Given the description of an element on the screen output the (x, y) to click on. 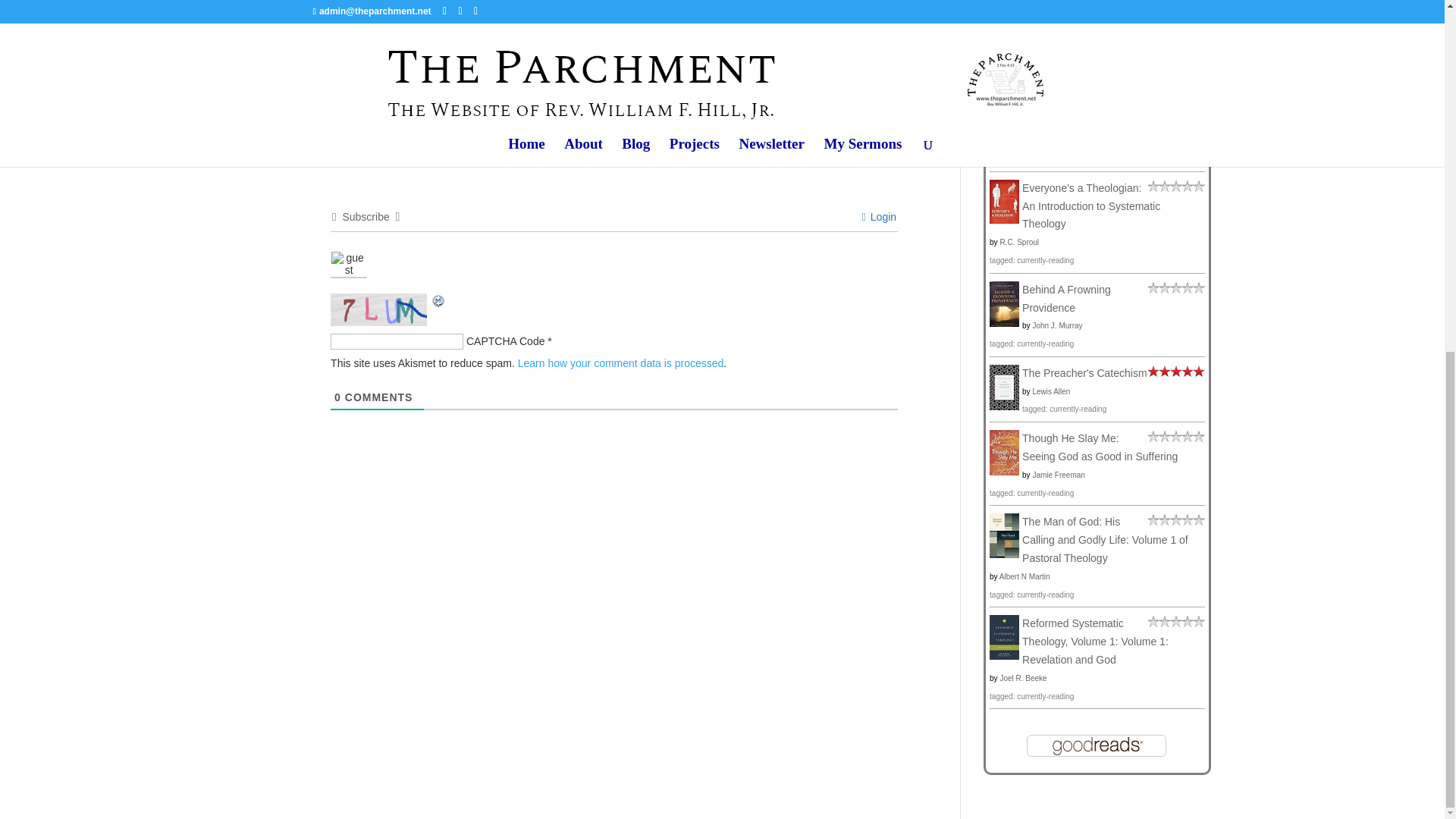
Daily Prayer for February 14, 2021 (410, 10)
Daily Prayer for February 14, 2021 (410, 10)
Login (878, 216)
